Given the description of an element on the screen output the (x, y) to click on. 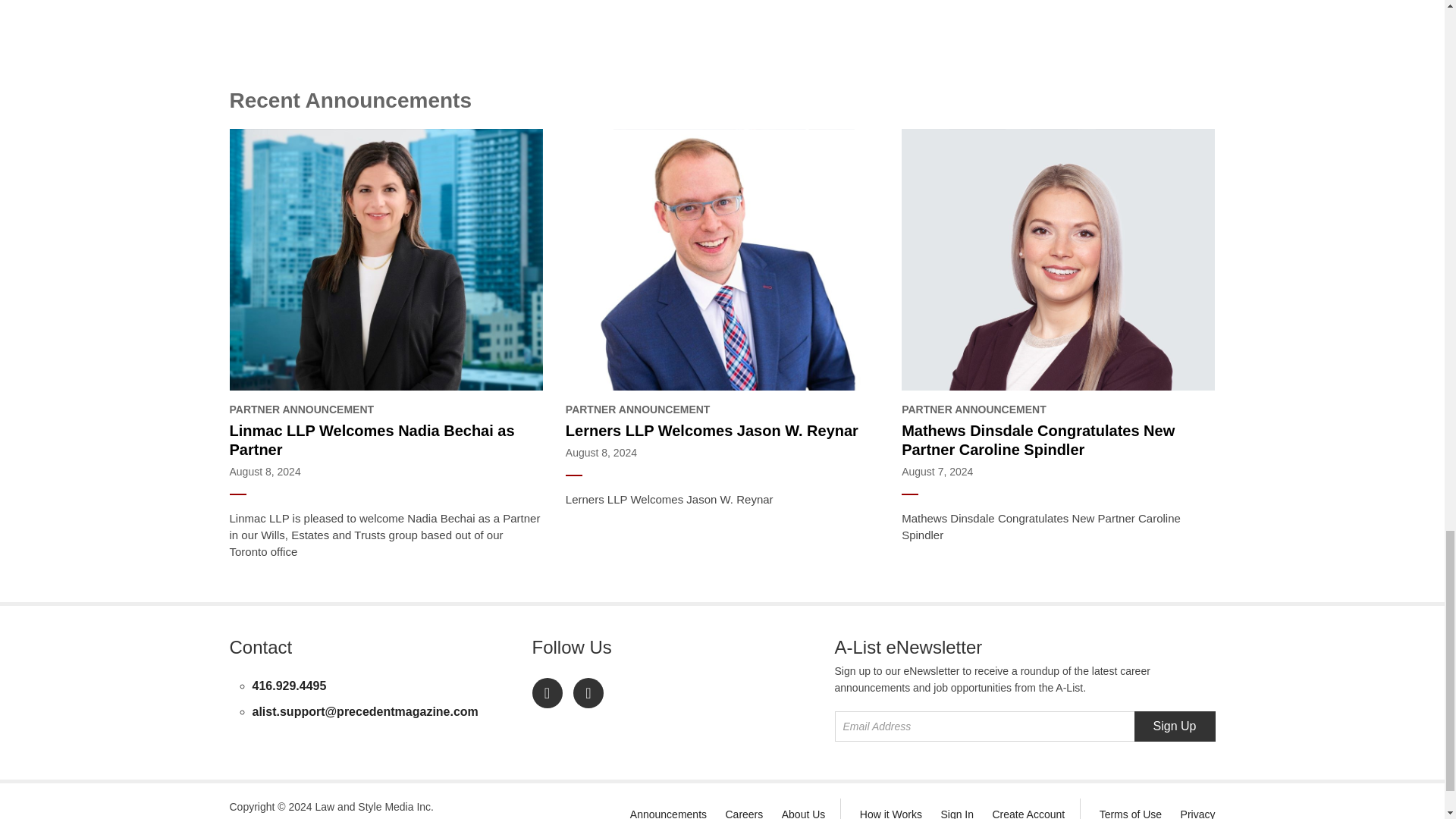
PARTNER ANNOUNCEMENT (384, 409)
Linmac LLP Welcomes Nadia Bechai as Partner (384, 440)
Mathews Dinsdale Congratulates New Partner Caroline Spindler (1057, 440)
PARTNER ANNOUNCEMENT (1057, 409)
A-List on Twitter (588, 693)
416.929.4495 (288, 685)
Sign Up (1174, 726)
PARTNER ANNOUNCEMENT (722, 409)
Lerners LLP Welcomes Jason W. Reynar (722, 430)
A-List on LinkedIn (547, 693)
